Given the description of an element on the screen output the (x, y) to click on. 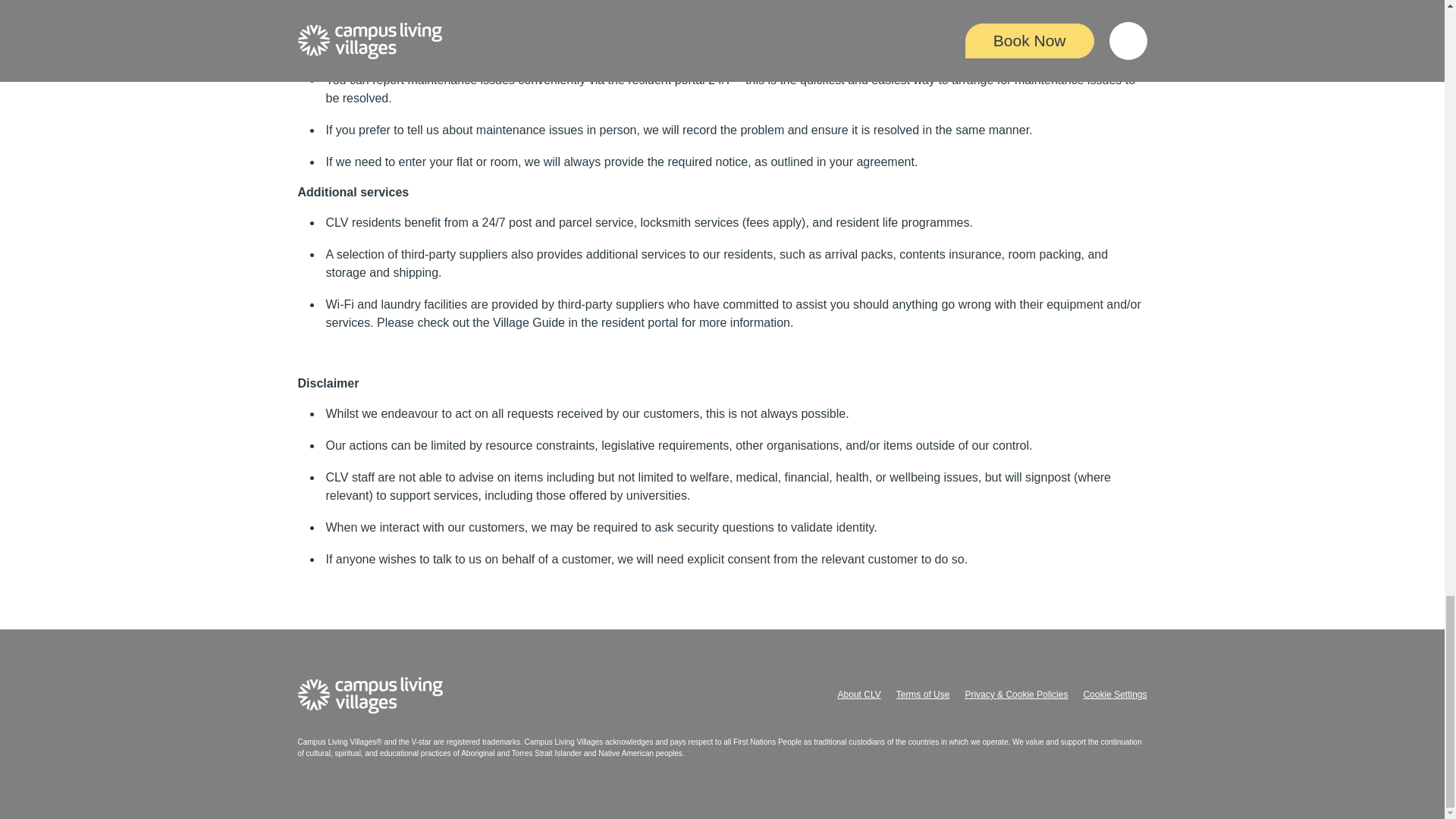
Terms of Use (923, 694)
Campus Living Villages Home Page (369, 695)
Cookie Settings (1115, 694)
Privacy and Cookie Policies (1015, 694)
